Given the description of an element on the screen output the (x, y) to click on. 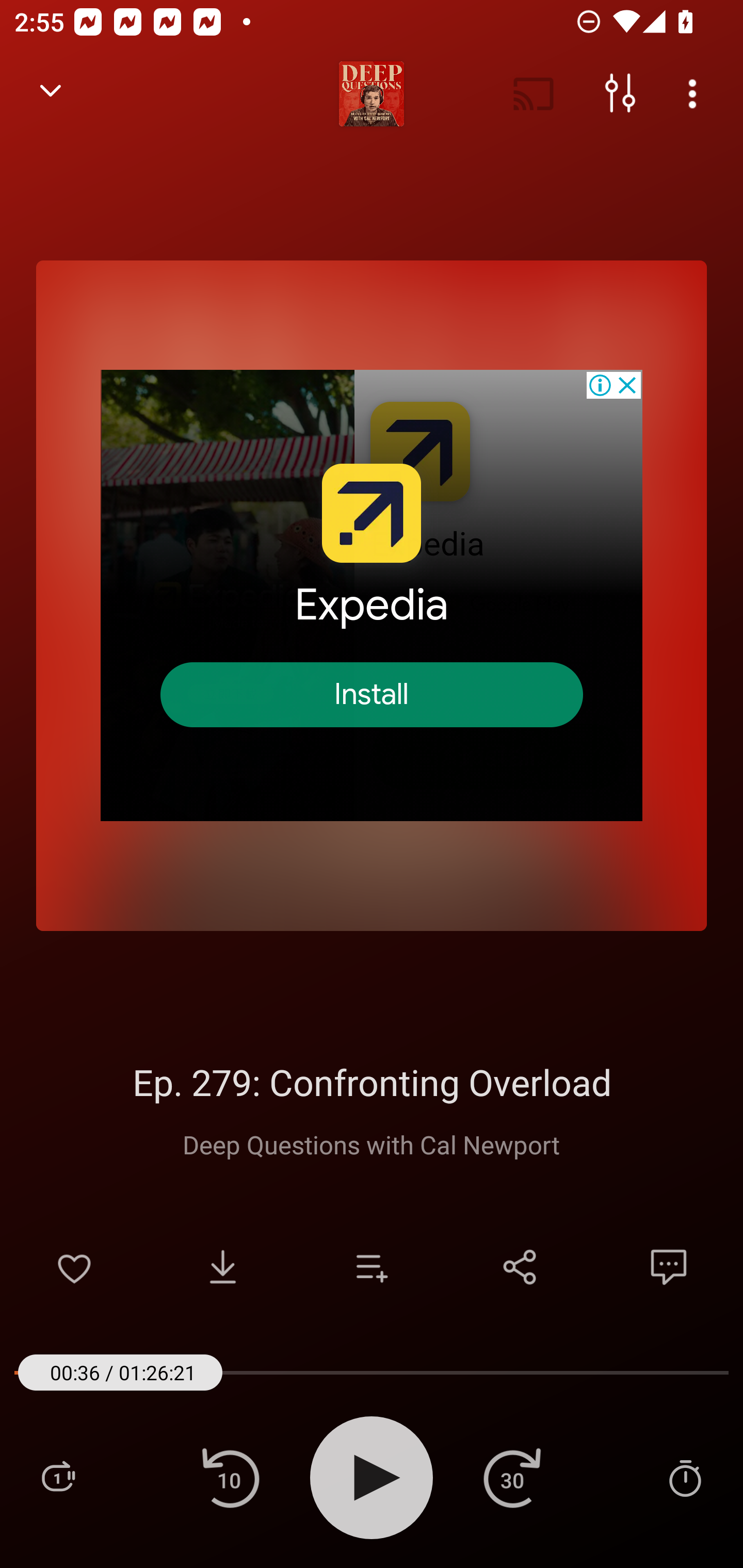
Cast. Disconnected (533, 93)
 Back (50, 94)
Install (371, 695)
Ep. 279: Confronting Overload (371, 1081)
Deep Questions with Cal Newport (371, 1144)
Comments (668, 1266)
Add to Favorites (73, 1266)
Add to playlist (371, 1266)
Share (519, 1266)
 Playlist (57, 1477)
Sleep Timer  (684, 1477)
